Given the description of an element on the screen output the (x, y) to click on. 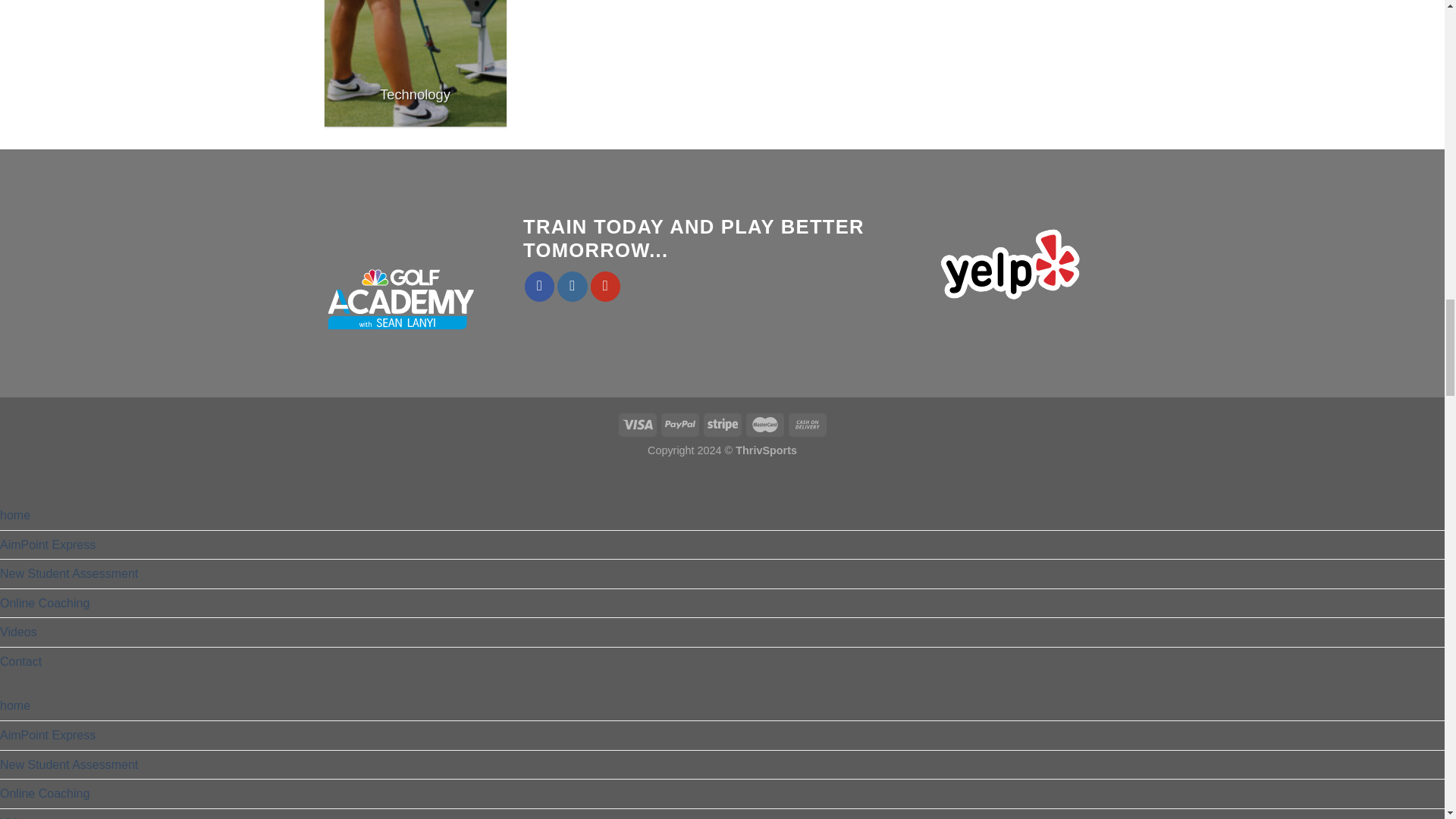
Technology (415, 63)
Videos (18, 814)
Contact (21, 661)
Follow on YouTube (606, 286)
home (15, 705)
Technology (415, 63)
AimPoint Express (48, 735)
New Student Assessment (69, 765)
Follow on Instagram (572, 286)
AimPoint Express (48, 544)
home (15, 515)
Online Coaching (44, 603)
Videos (18, 632)
Follow on Facebook (539, 286)
Online Coaching (44, 793)
